Given the description of an element on the screen output the (x, y) to click on. 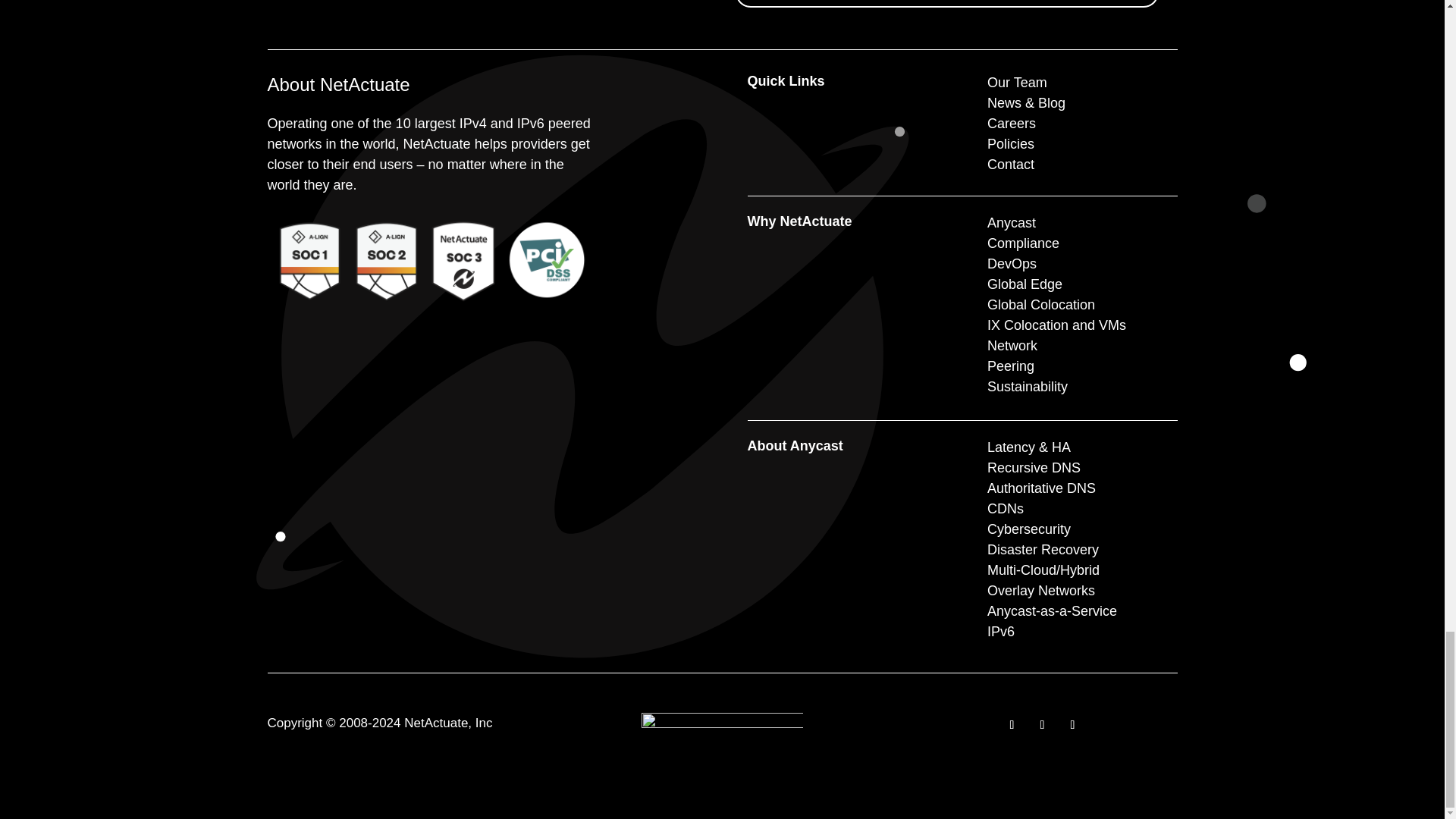
Follow on Youtube (1071, 724)
Follow on GitHub (1041, 724)
Follow on LinkedIn (1010, 724)
SOC BADGES 2024-NETACTUATE (427, 257)
Logo-white-1 (722, 731)
BGP Anycast (816, 445)
